Given the description of an element on the screen output the (x, y) to click on. 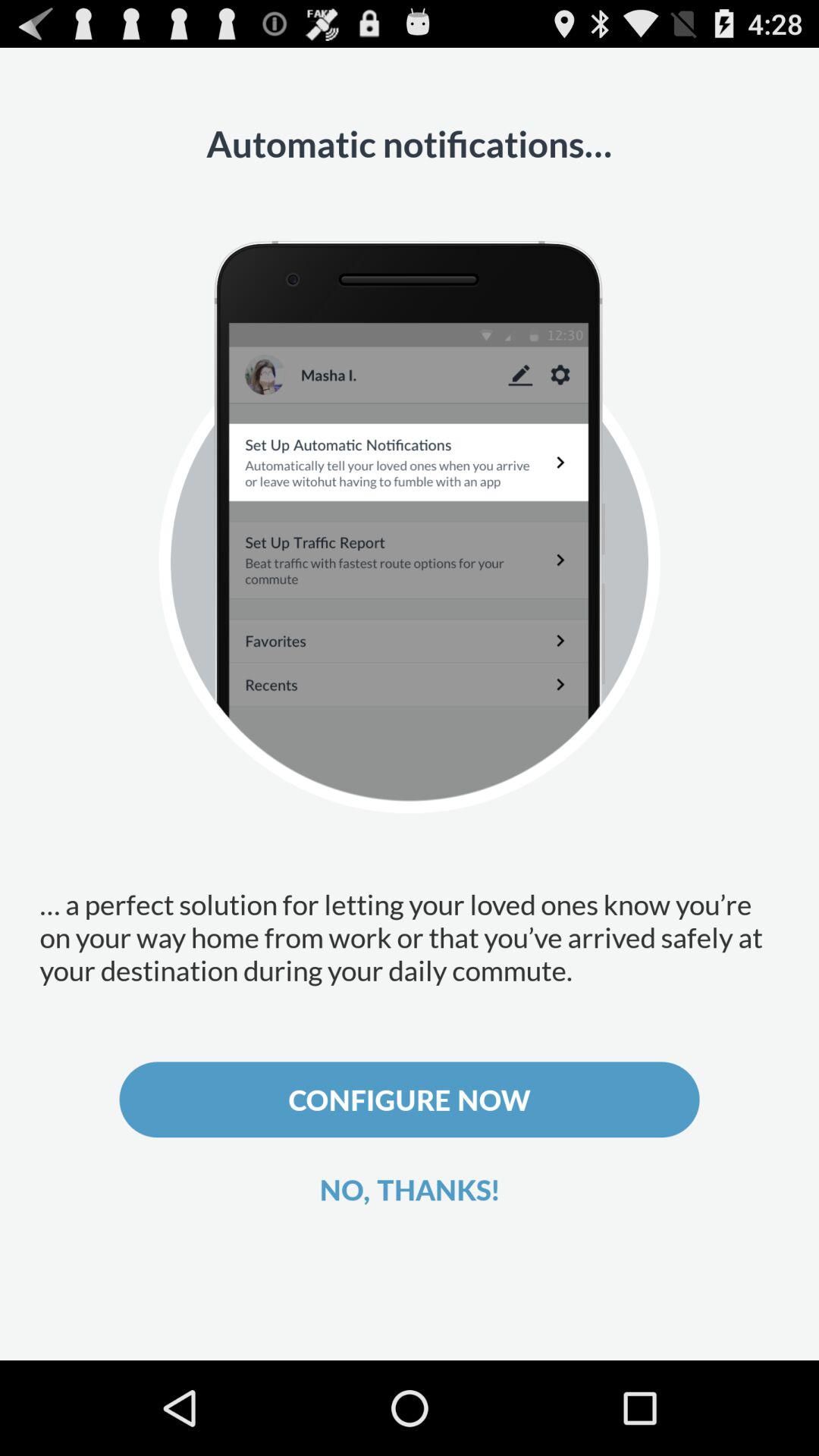
open no, thanks! icon (409, 1189)
